Given the description of an element on the screen output the (x, y) to click on. 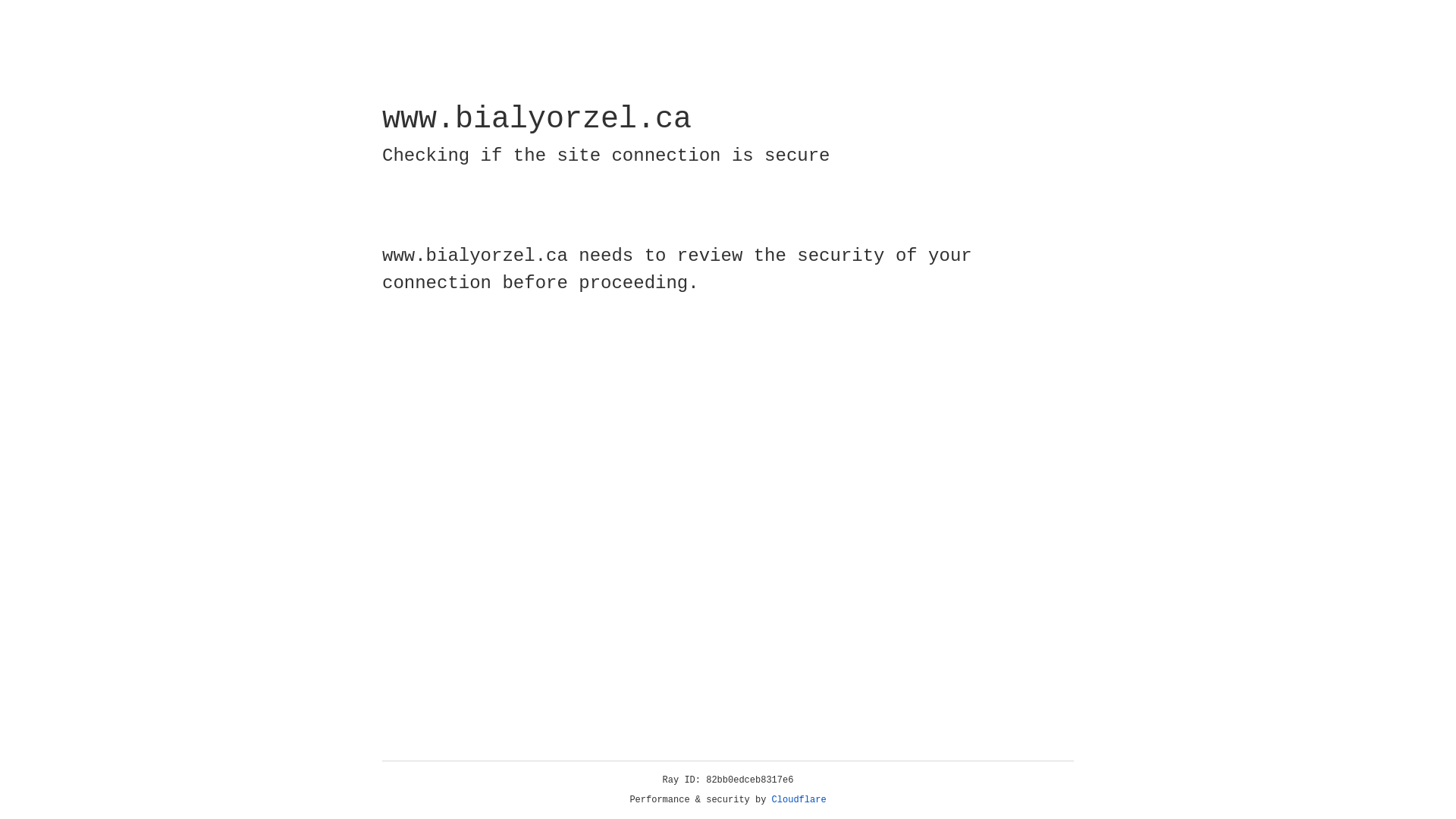
Cloudflare Element type: text (798, 799)
